Given the description of an element on the screen output the (x, y) to click on. 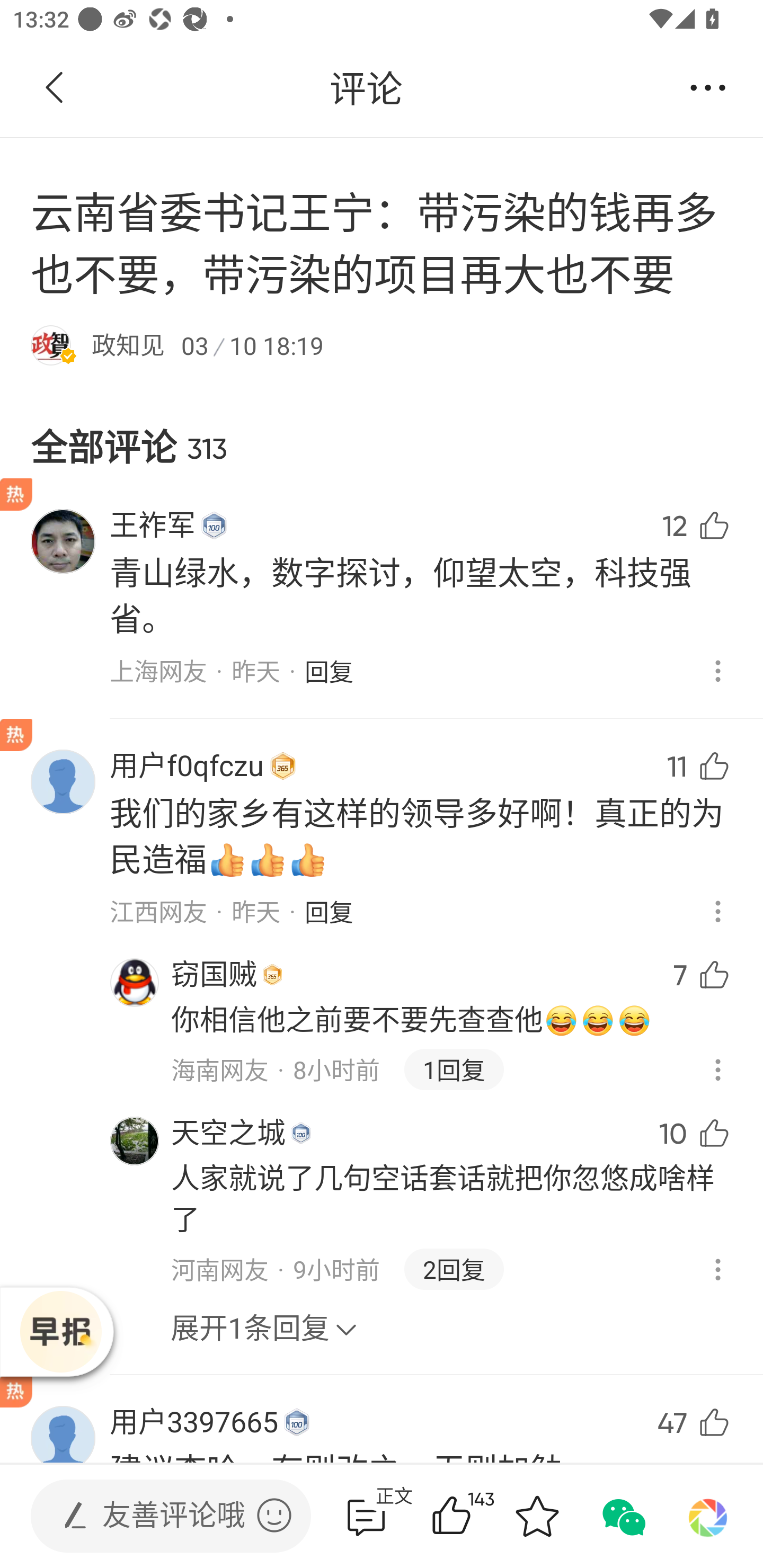
分享  (707, 87)
 返回 (54, 87)
政知见 (127, 344)
政知见 2024年3月10日10:19 河北 北京青年报政知见官方账号  关注 (381, 439)
UserRightLabel_OneMedalView 勋章 (213, 525)
UserRightLabel_OneMedalView 勋章 (282, 765)
UserRightLabel_OneMedalView 勋章 (271, 975)
UserRightLabel_OneMedalView 勋章 (300, 1133)
展开1条回复  (263, 1318)
播放器 (60, 1331)
UserRightLabel_OneMedalView 勋章 (296, 1422)
发表评论  友善评论哦 发表评论  (155, 1516)
313评论  313 评论 (365, 1516)
143赞 (476, 1516)
收藏  (536, 1516)
分享到微信  (622, 1516)
分享到朋友圈 (707, 1516)
 (274, 1515)
